Given the description of an element on the screen output the (x, y) to click on. 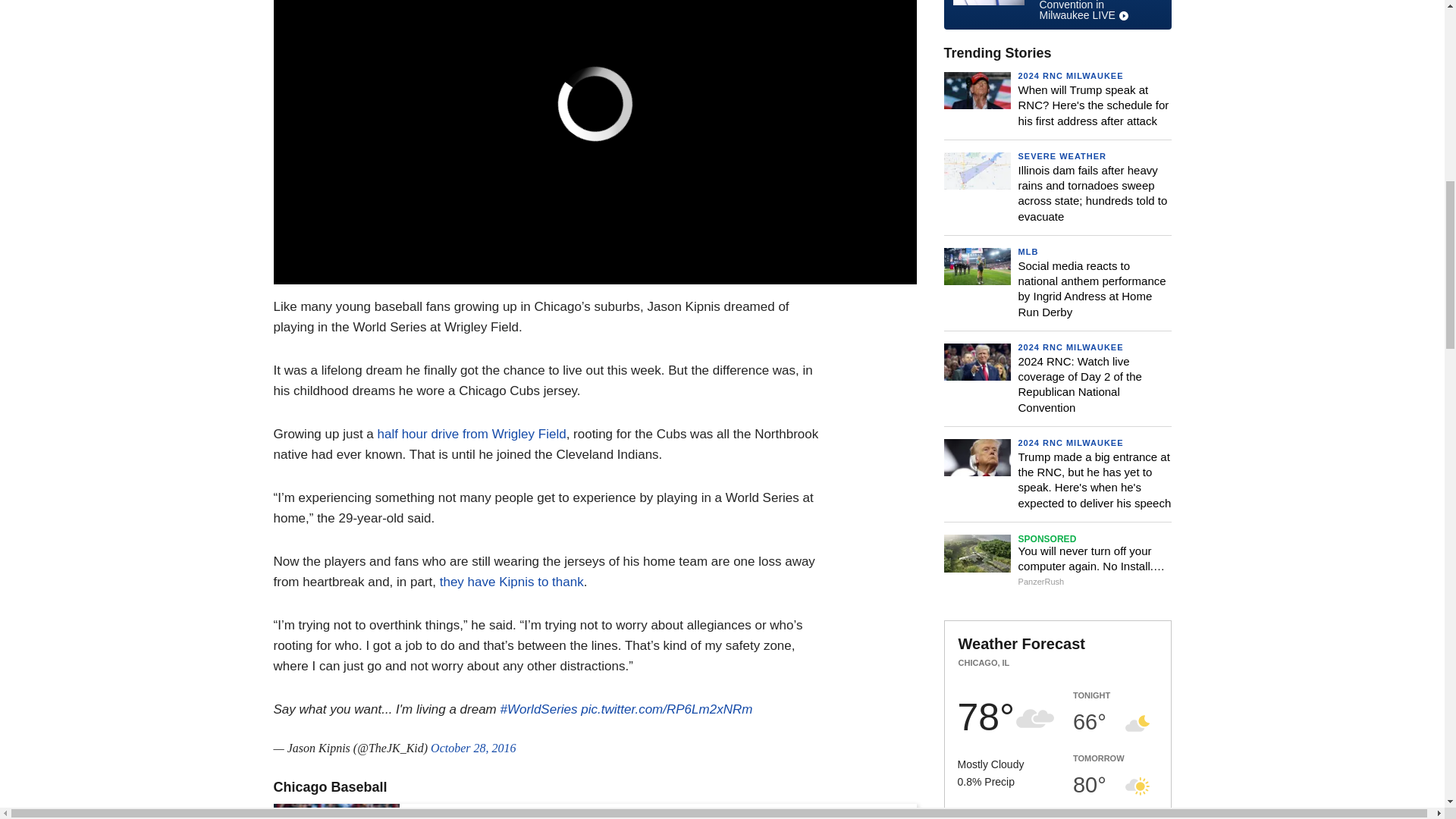
they have Kipnis to thank (511, 581)
half hour drive from Wrigley Field (471, 433)
October 28, 2016 (472, 748)
